Given the description of an element on the screen output the (x, y) to click on. 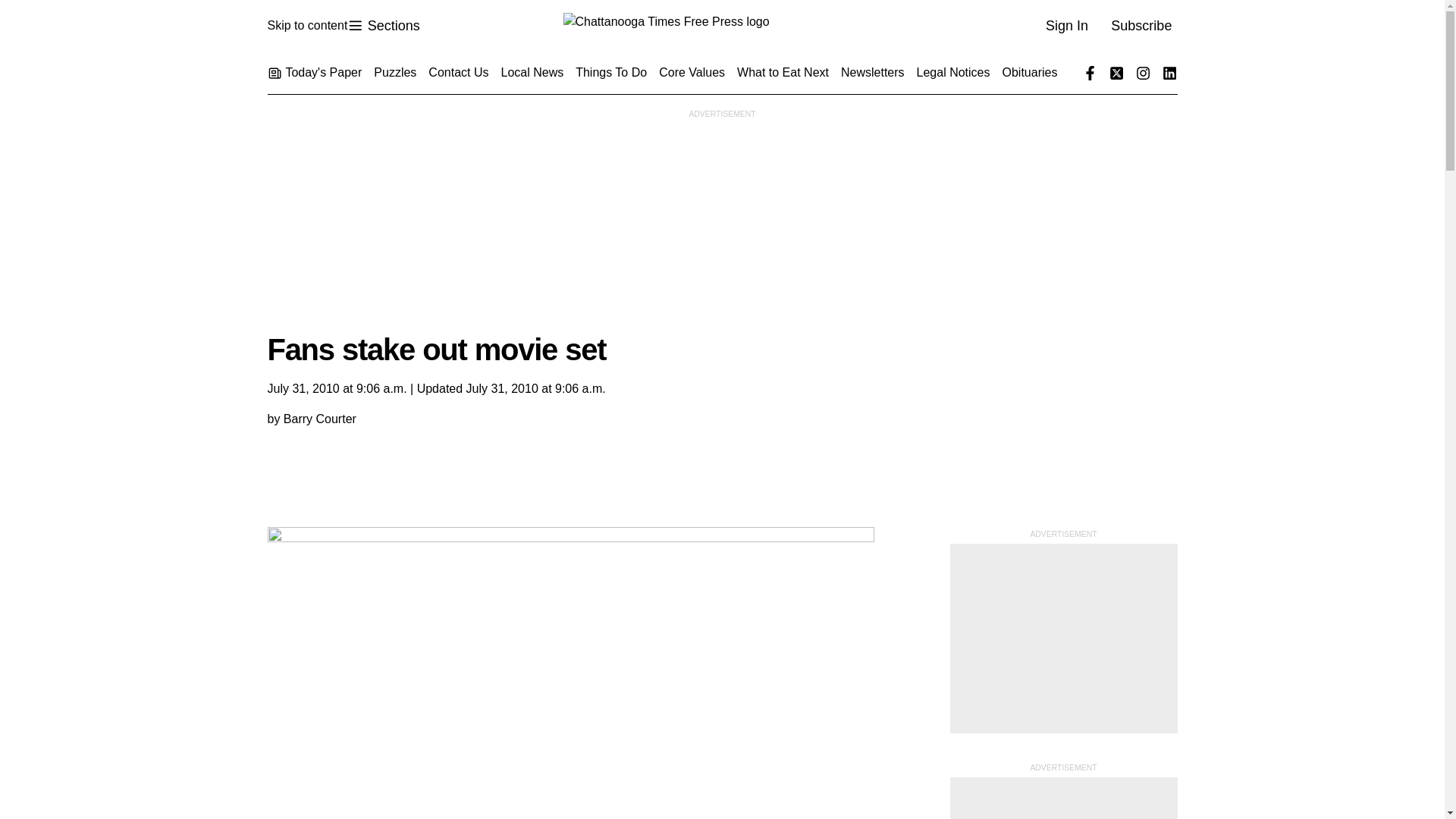
Times Free Press (383, 25)
Skip to content (721, 25)
